Given the description of an element on the screen output the (x, y) to click on. 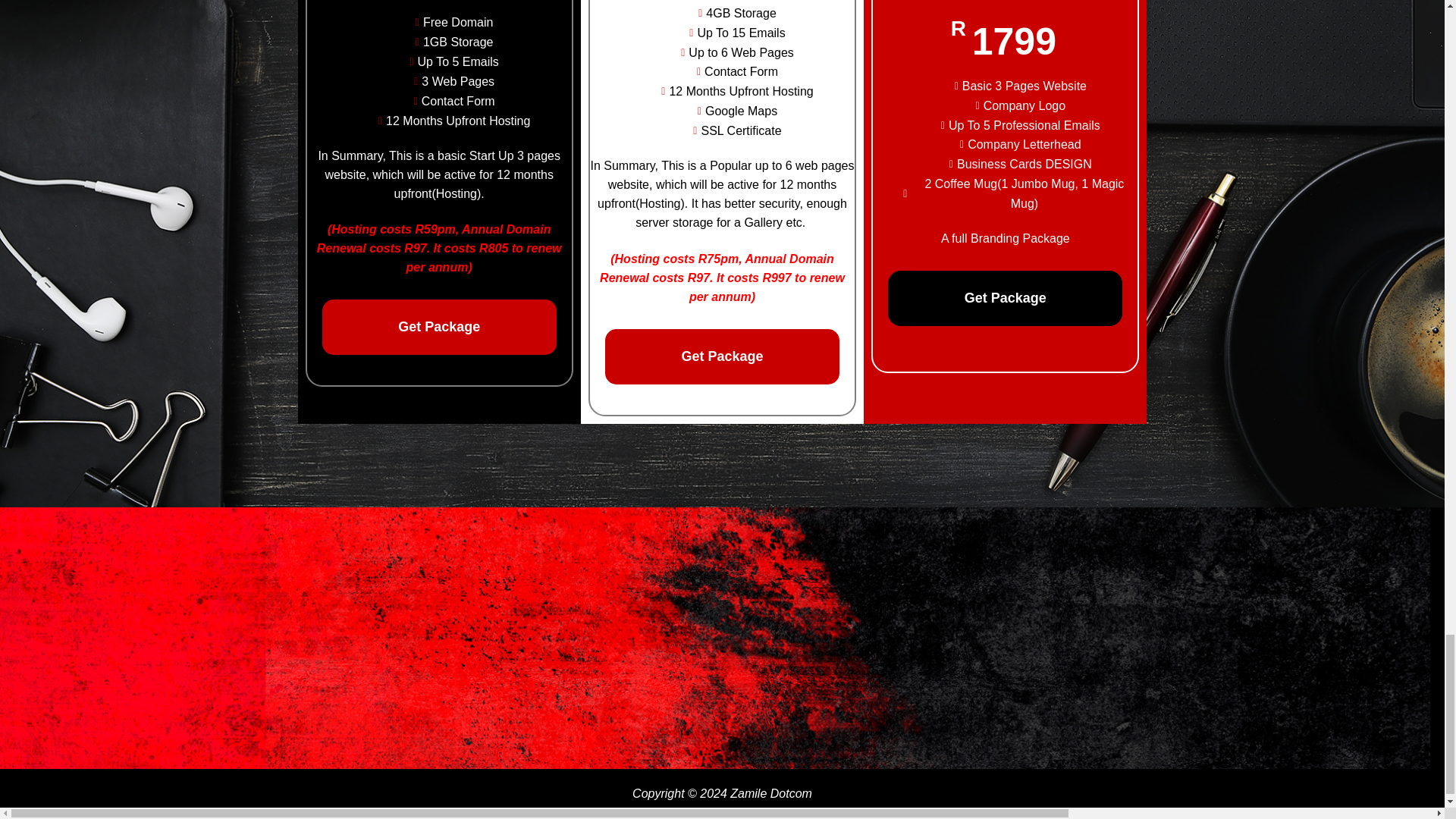
Get Package (1005, 298)
Get Package (722, 356)
Get Package (438, 326)
